Given the description of an element on the screen output the (x, y) to click on. 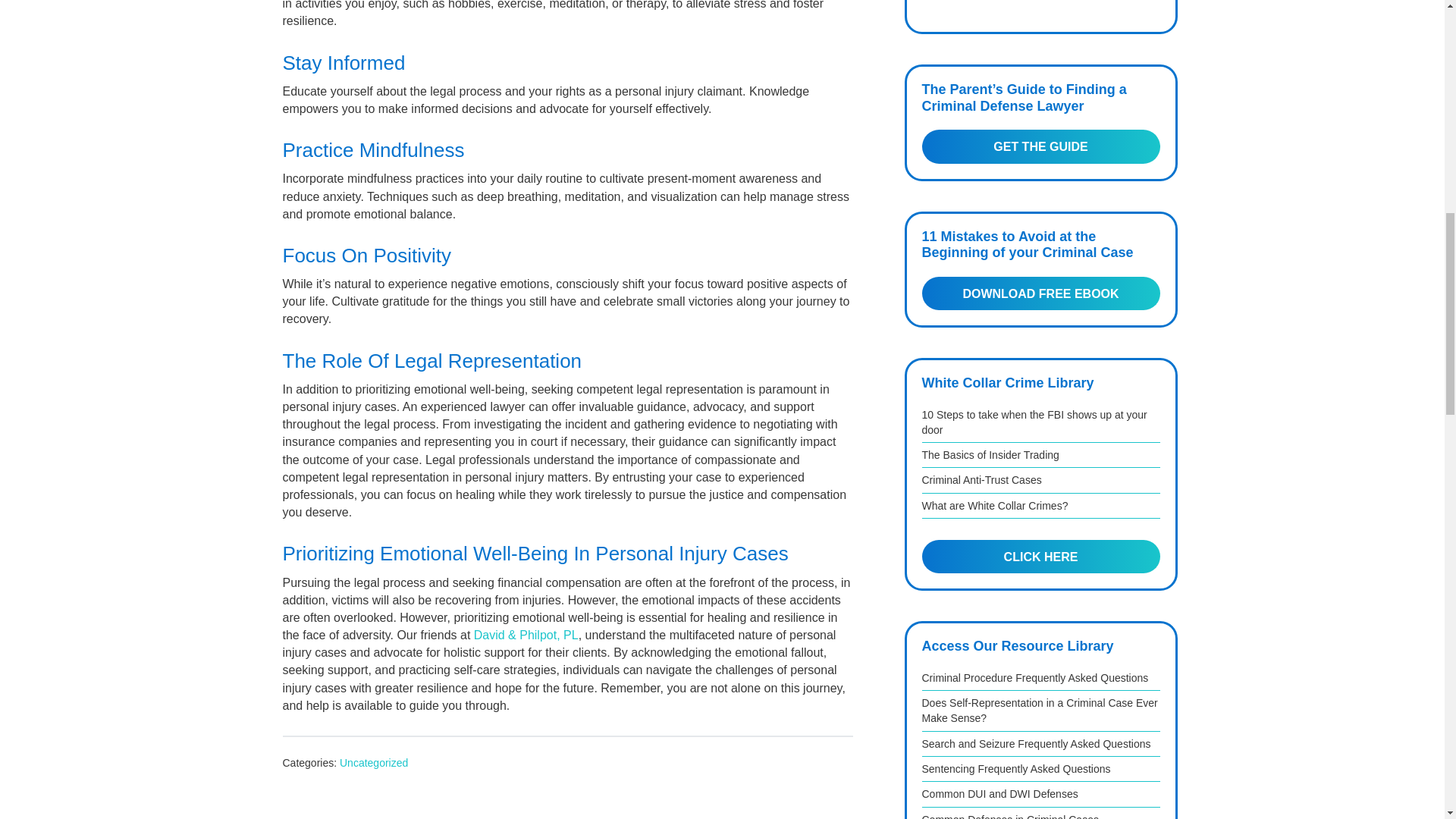
Uncategorized (373, 762)
DOWNLOAD FREE EBOOK (1040, 293)
GET THE GUIDE (1040, 145)
